Given the description of an element on the screen output the (x, y) to click on. 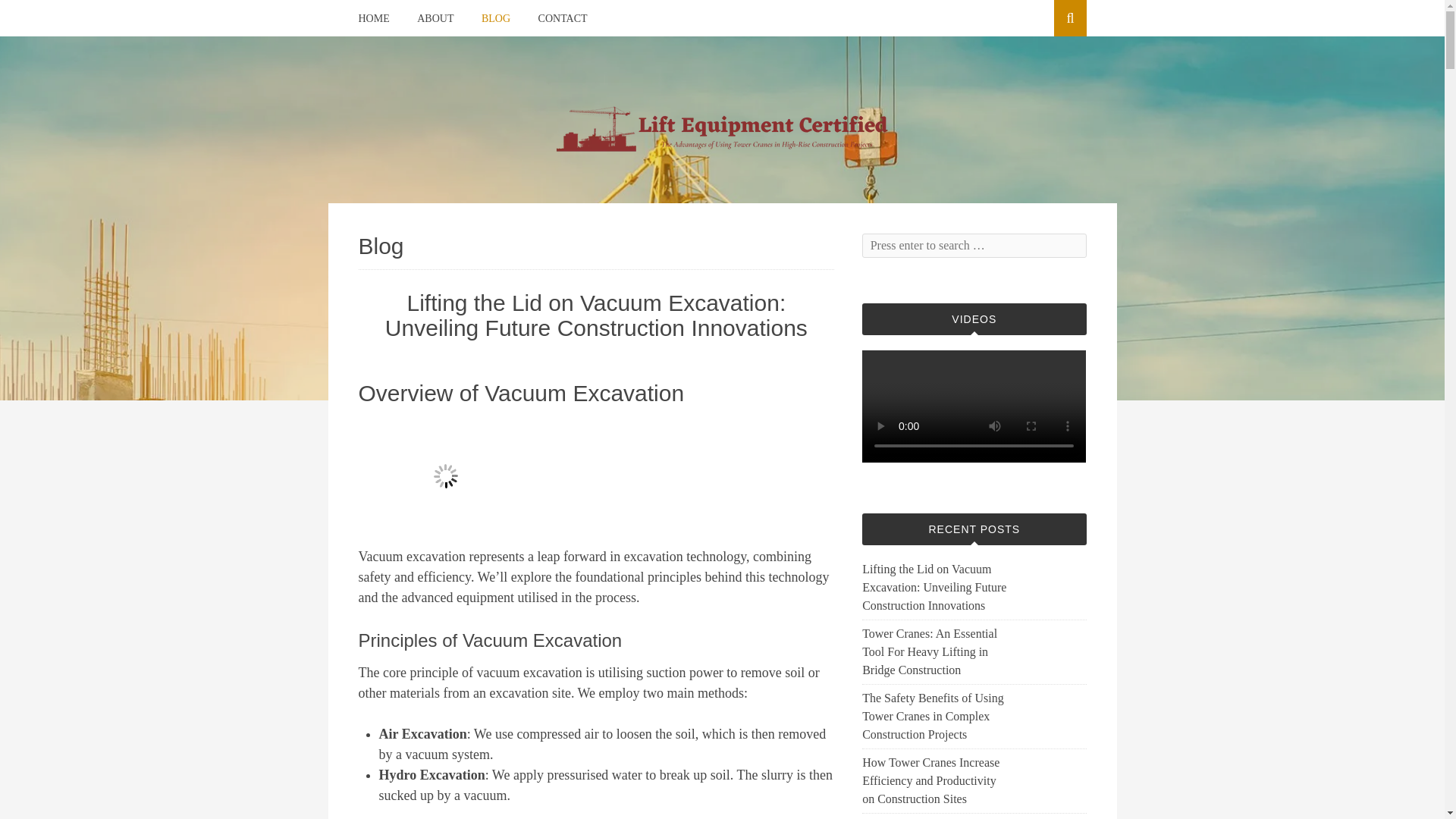
BLOG (496, 18)
CONTACT (563, 18)
ABOUT (434, 18)
HOME (373, 18)
